Given the description of an element on the screen output the (x, y) to click on. 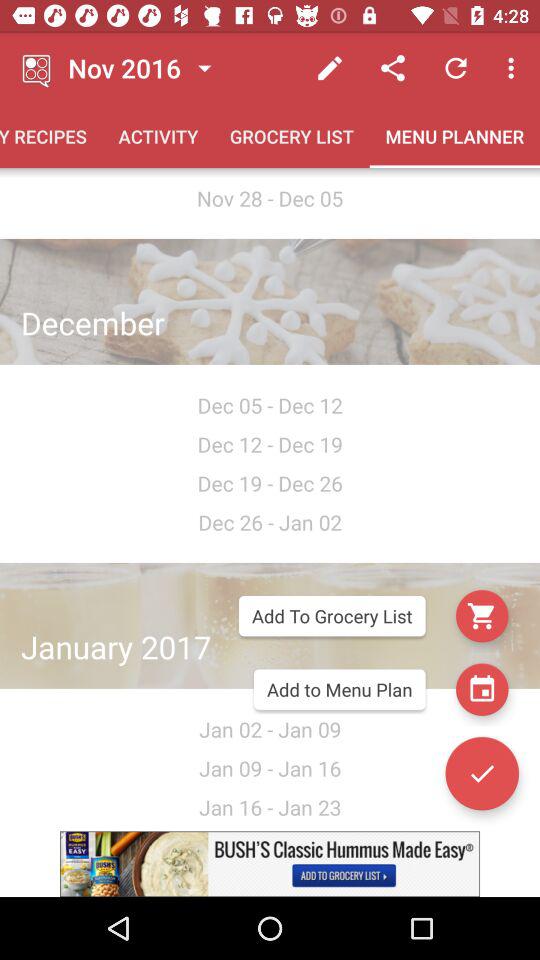
go to calendar (482, 689)
